Given the description of an element on the screen output the (x, y) to click on. 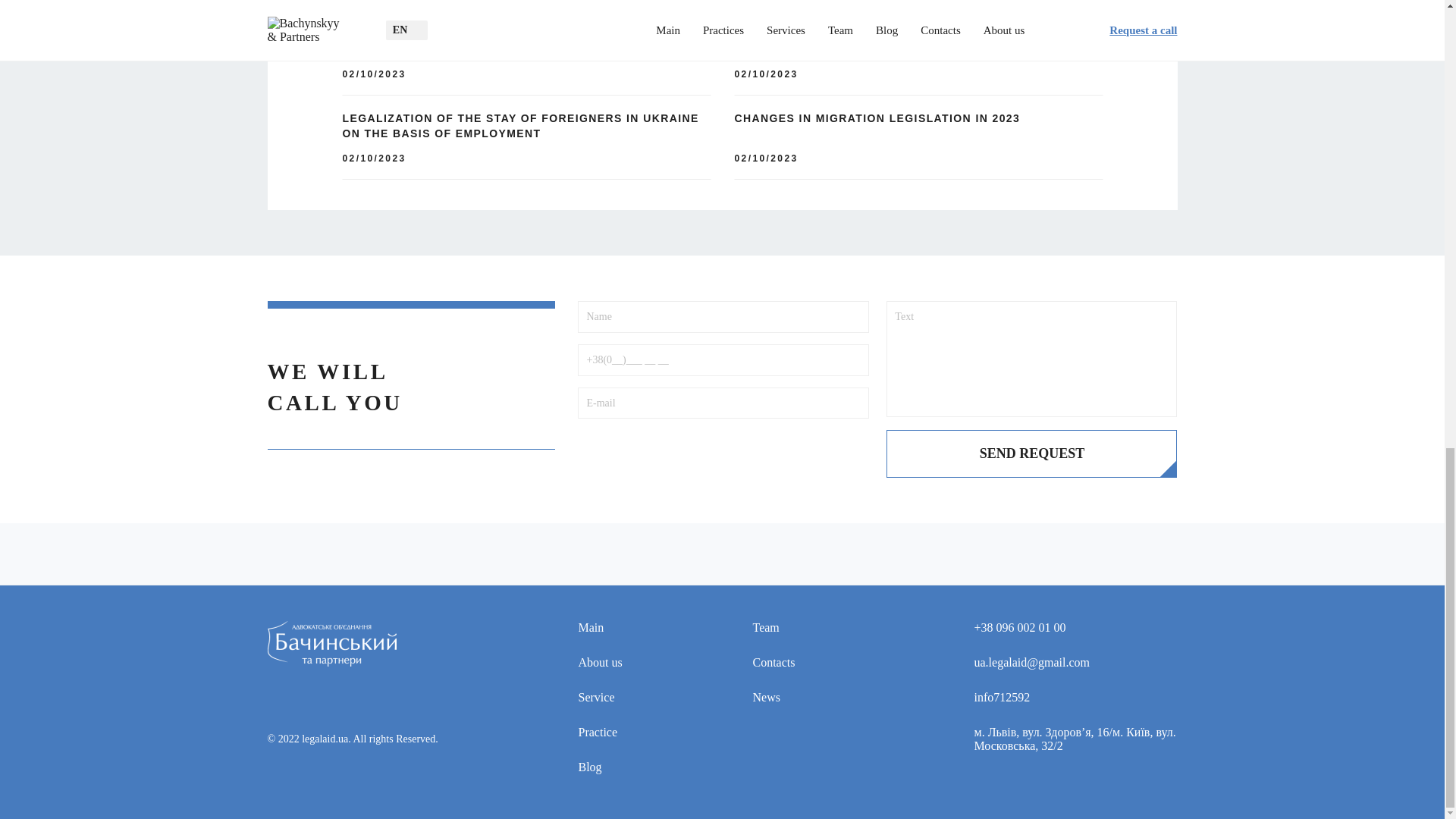
Team (793, 627)
Blog (619, 766)
Practice (619, 732)
Contacts (793, 662)
SEND REQUEST (1031, 453)
Main (619, 627)
About us (619, 662)
News (793, 697)
Service (619, 697)
